Given the description of an element on the screen output the (x, y) to click on. 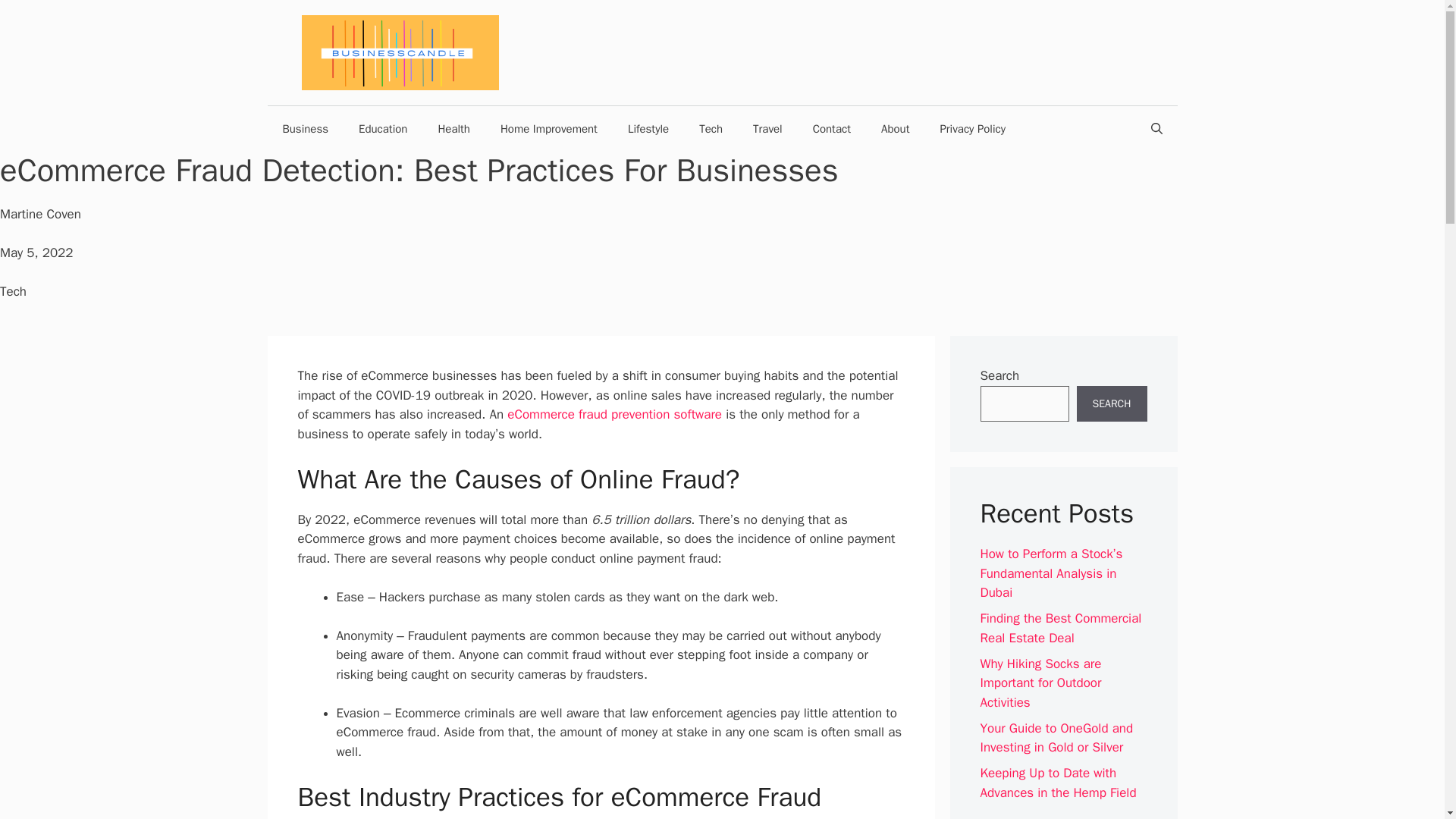
Business (304, 128)
Tech (711, 128)
Education (382, 128)
About (895, 128)
Your Guide to OneGold and Investing in Gold or Silver (1055, 737)
Home Improvement (548, 128)
SEARCH (1112, 403)
Health (453, 128)
Travel (767, 128)
Keeping Up to Date with Advances in the Hemp Field (1057, 782)
Contact (831, 128)
Lifestyle (648, 128)
Privacy Policy (972, 128)
eCommerce fraud prevention software (614, 414)
Why Hiking Socks are Important for Outdoor Activities (1039, 683)
